Given the description of an element on the screen output the (x, y) to click on. 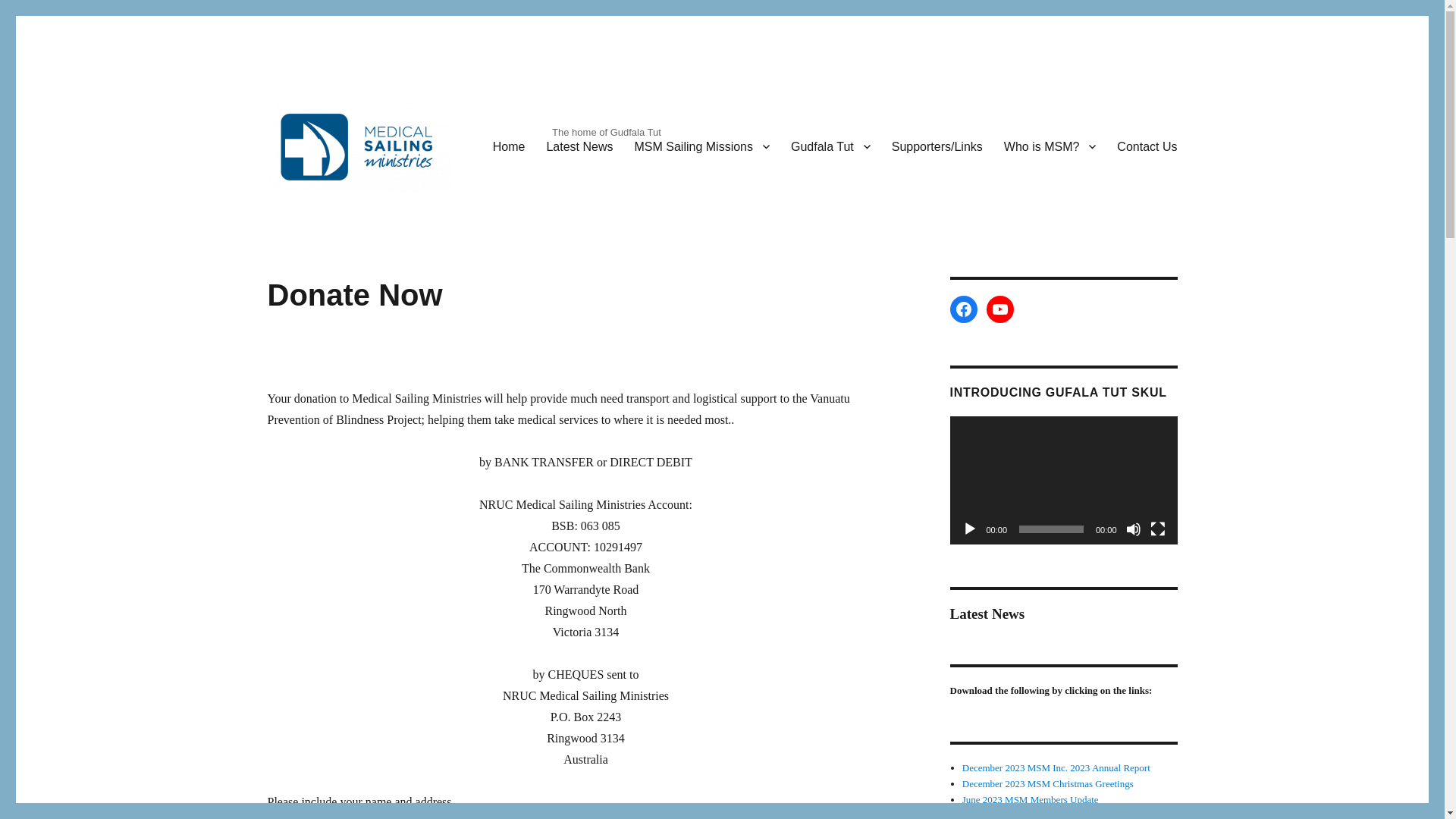
Fullscreen (1157, 529)
Mute (1132, 529)
Play (968, 529)
Latest News (579, 146)
Home (508, 146)
MSM Sailing Missions (702, 146)
